Given the description of an element on the screen output the (x, y) to click on. 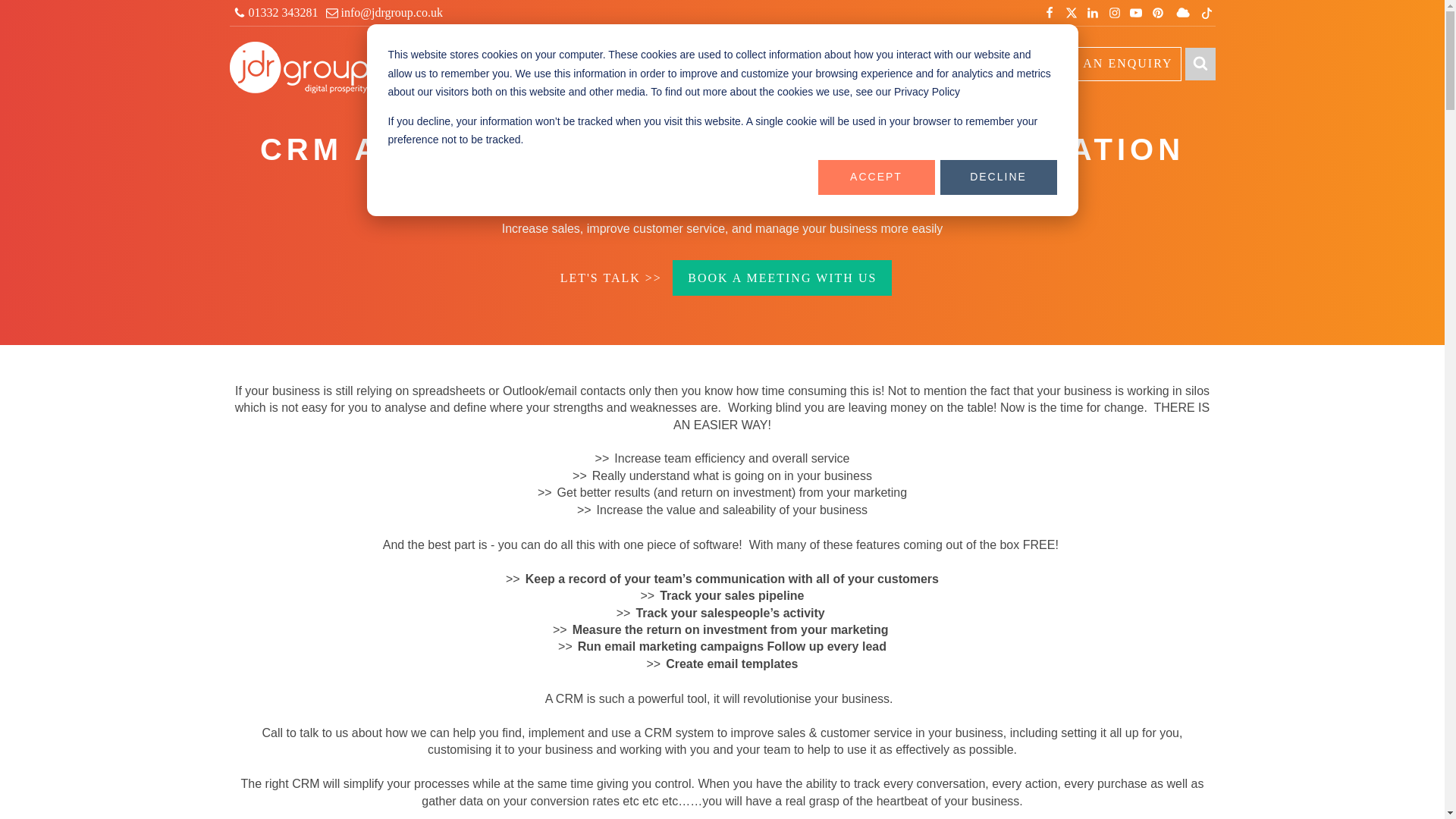
WHAT WE DO (587, 64)
01332 343281 (274, 12)
